Given the description of an element on the screen output the (x, y) to click on. 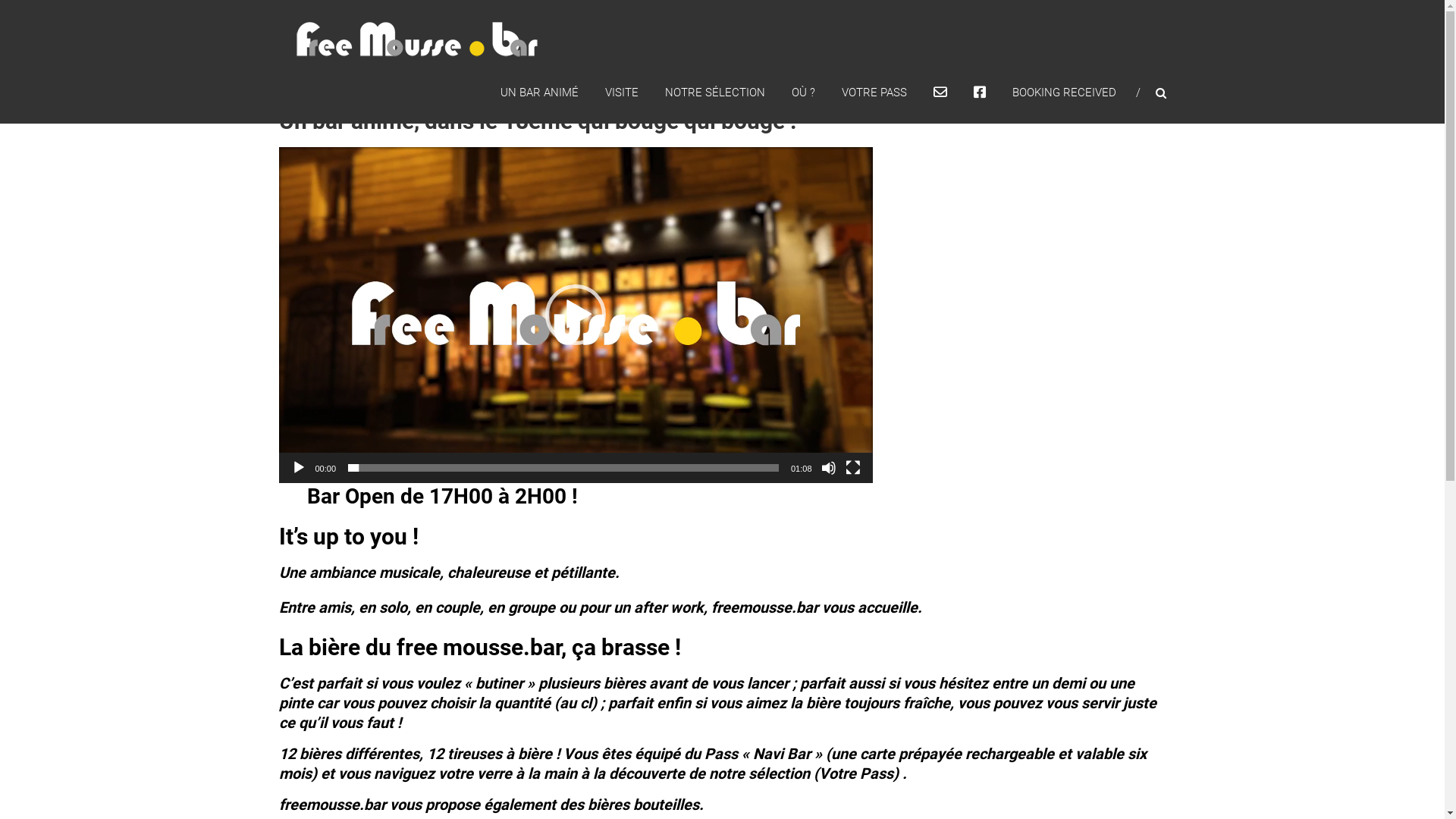
SUIVEZ NOUS Element type: text (979, 92)
Recherche Element type: text (1231, 409)
CONTACT Element type: text (939, 92)
BOOKING RECEIVED Element type: text (1063, 92)
VISITE Element type: text (621, 92)
Lecture Element type: hover (298, 466)
VOTRE PASS Element type: text (873, 92)
Muet Element type: hover (827, 466)
